Given the description of an element on the screen output the (x, y) to click on. 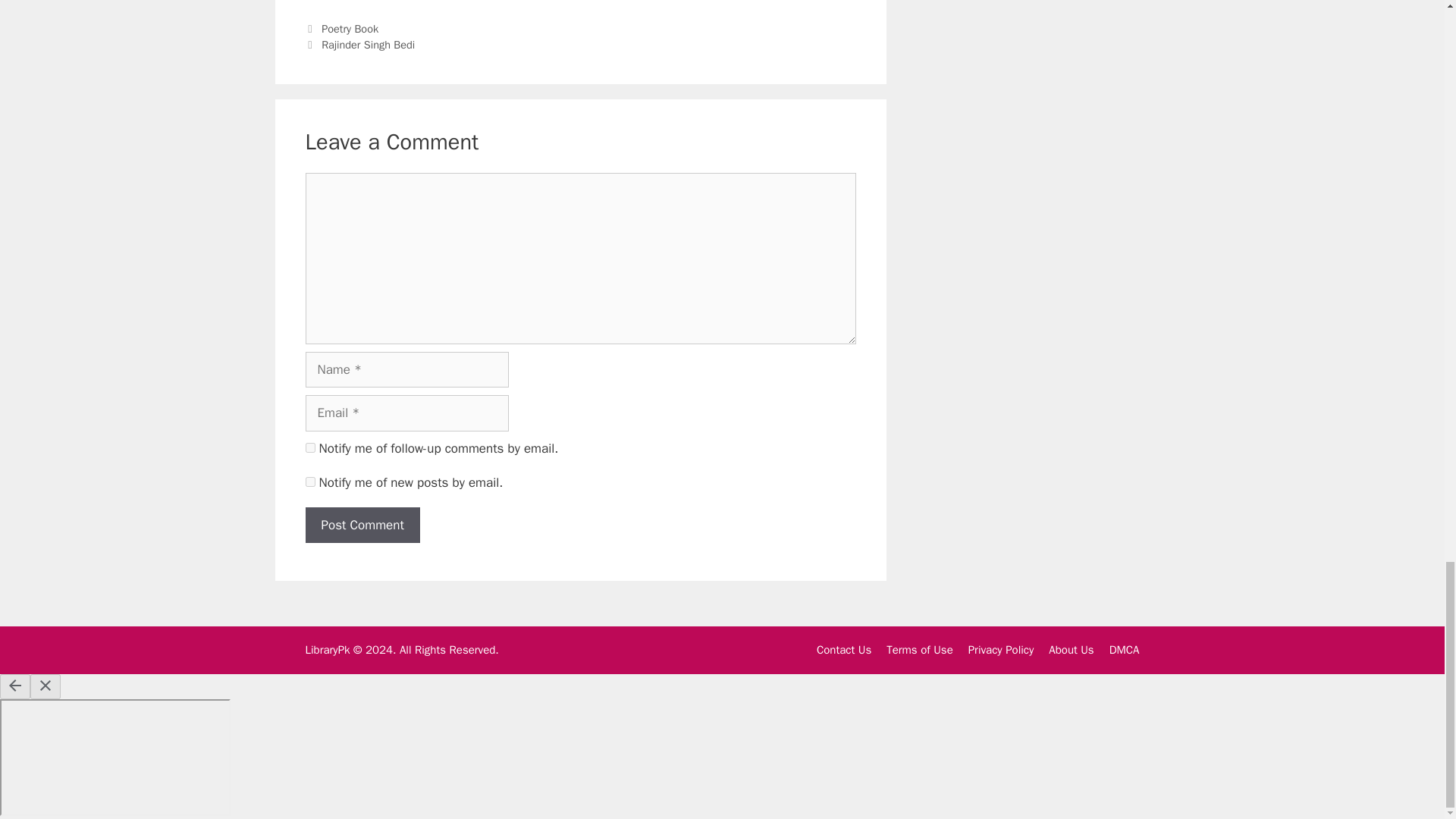
Rajinder Singh Bedi (367, 44)
Post Comment (361, 524)
subscribe (309, 447)
subscribe (309, 481)
Post Comment (361, 524)
Poetry Book (349, 29)
